Given the description of an element on the screen output the (x, y) to click on. 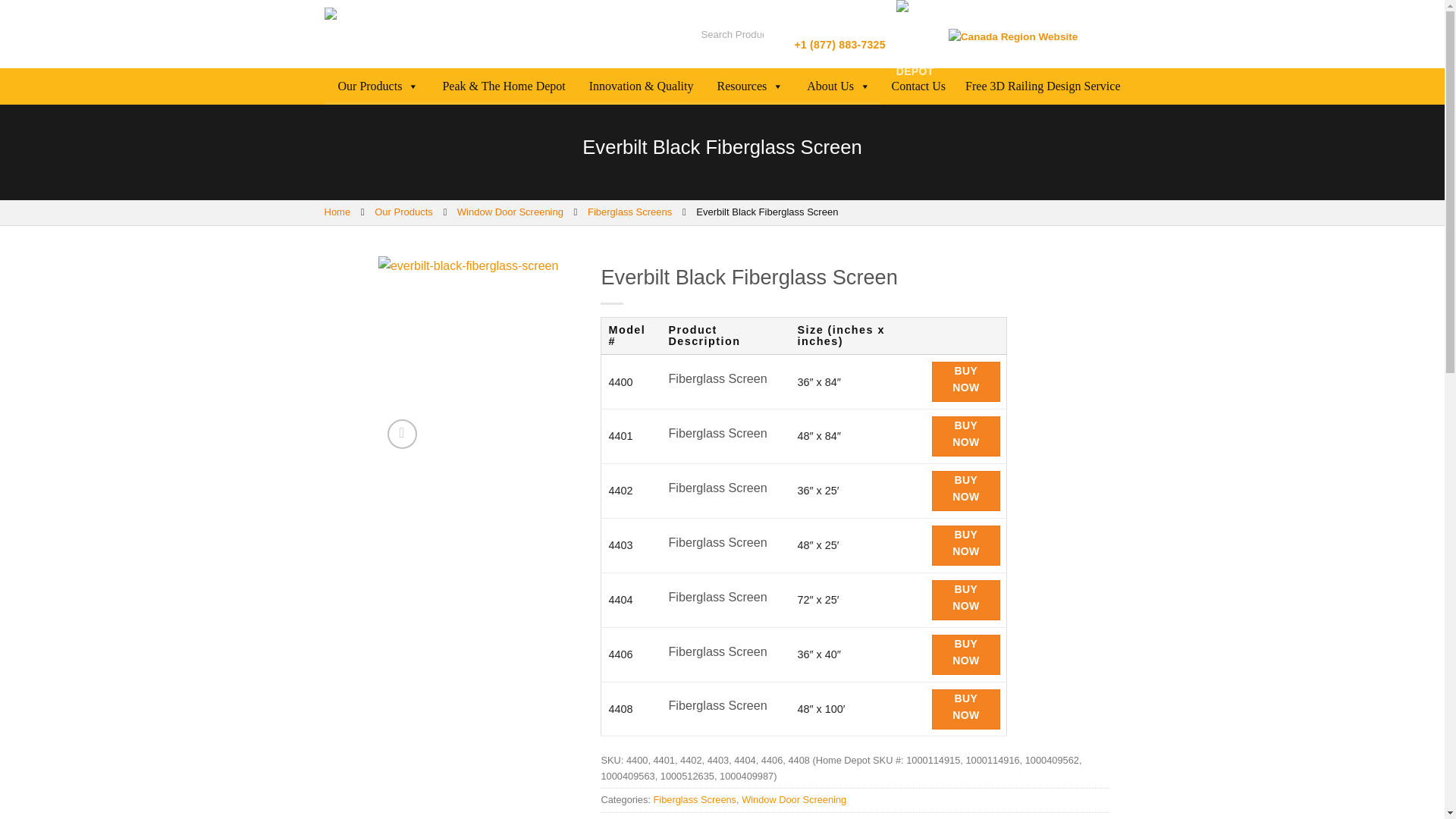
Our Products (376, 85)
Search (760, 33)
